Given the description of an element on the screen output the (x, y) to click on. 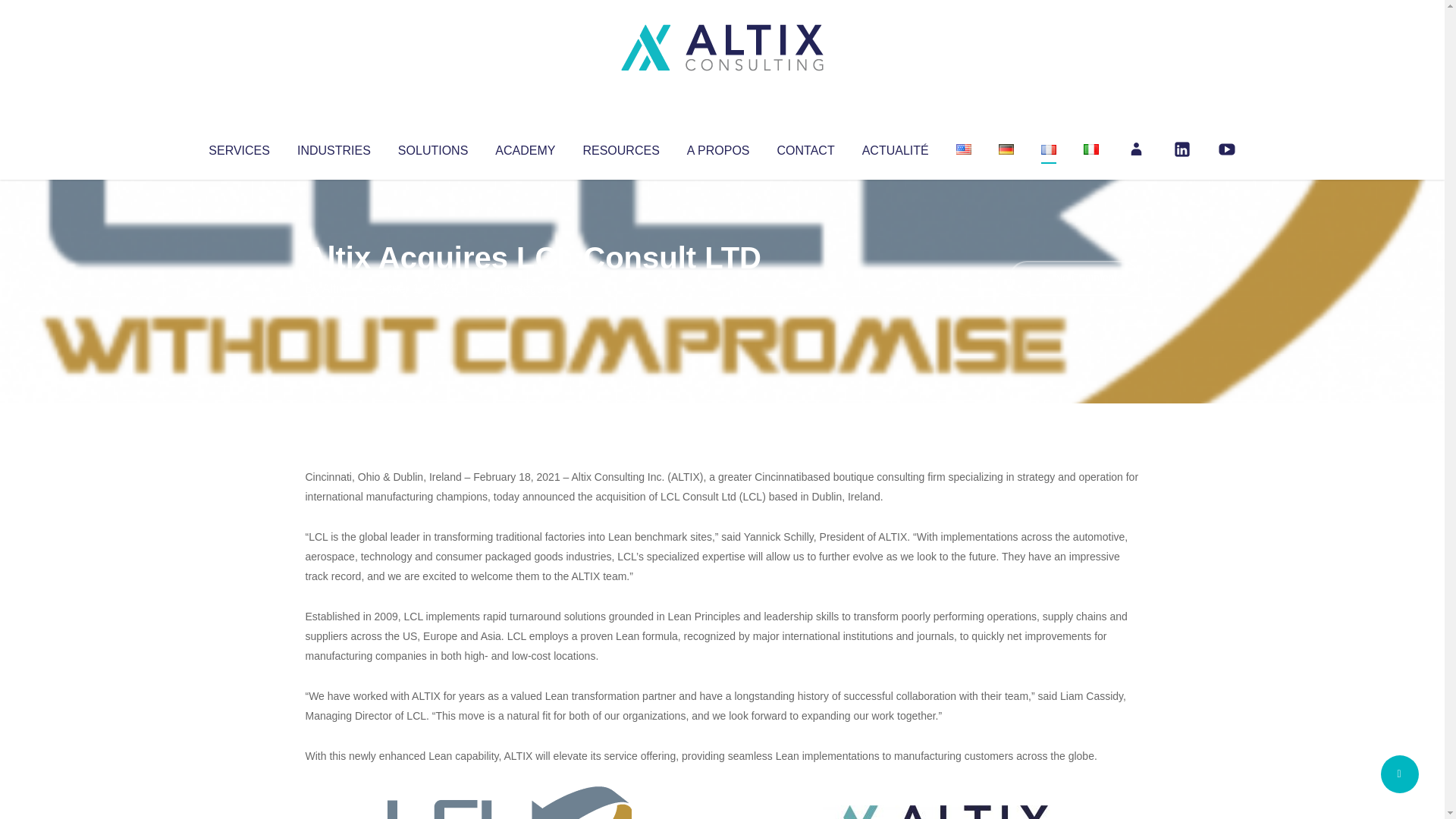
SERVICES (238, 146)
RESOURCES (620, 146)
A PROPOS (718, 146)
No Comments (1073, 278)
SOLUTIONS (432, 146)
ACADEMY (524, 146)
Altix (333, 287)
Uncategorized (530, 287)
INDUSTRIES (334, 146)
Articles par Altix (333, 287)
